Given the description of an element on the screen output the (x, y) to click on. 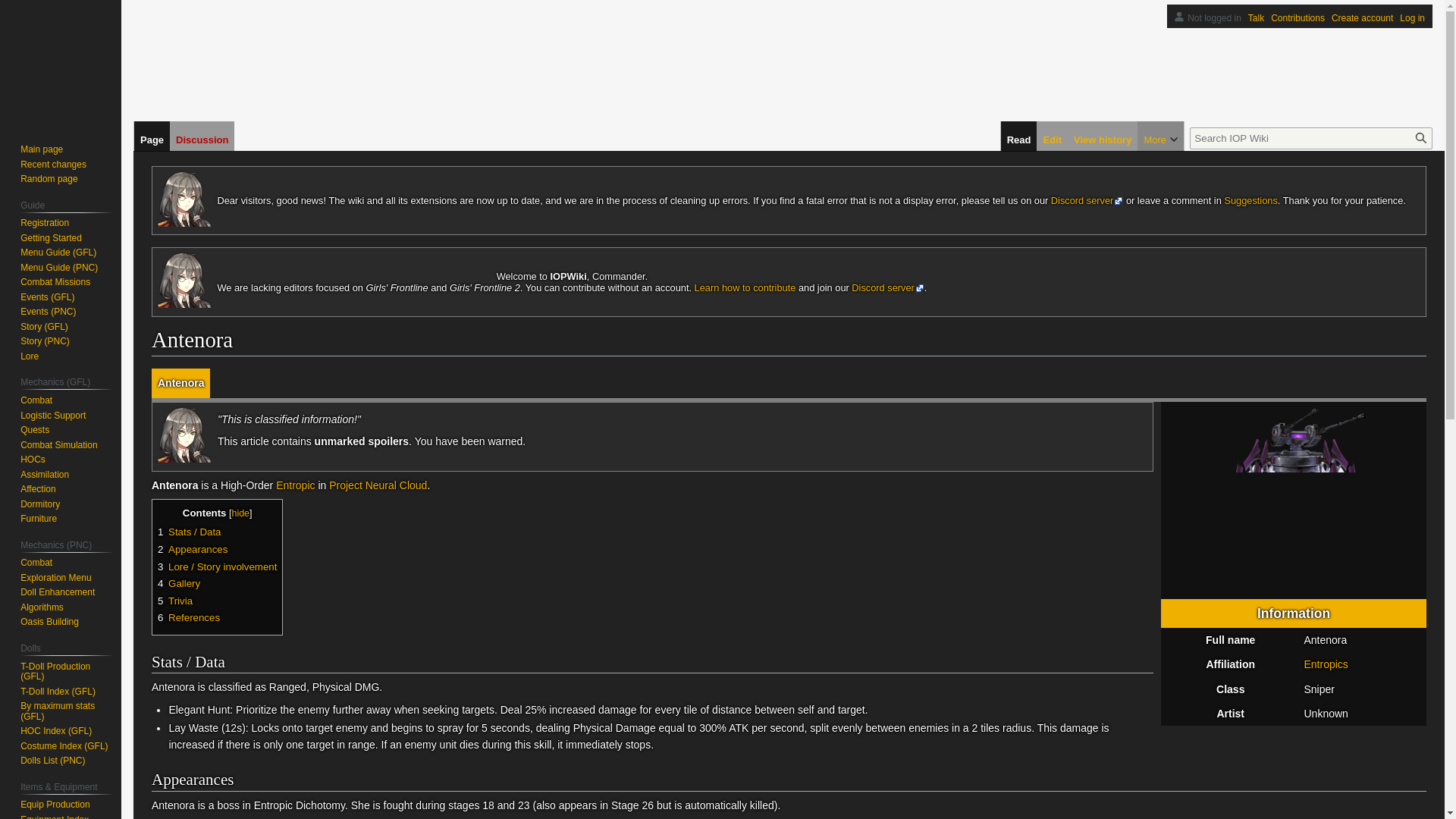
6 References (188, 617)
Learn how to contribute (745, 287)
Entropic (295, 485)
Entropics (1325, 664)
Discord server (887, 287)
IOP Wiki:Guideline (745, 287)
Search (1420, 137)
Antenora (180, 382)
Search (1420, 137)
5 Trivia (174, 600)
Antenora (1293, 499)
Suggestion (1250, 200)
Project Neural Cloud (377, 485)
Suggestions (1250, 200)
